Given the description of an element on the screen output the (x, y) to click on. 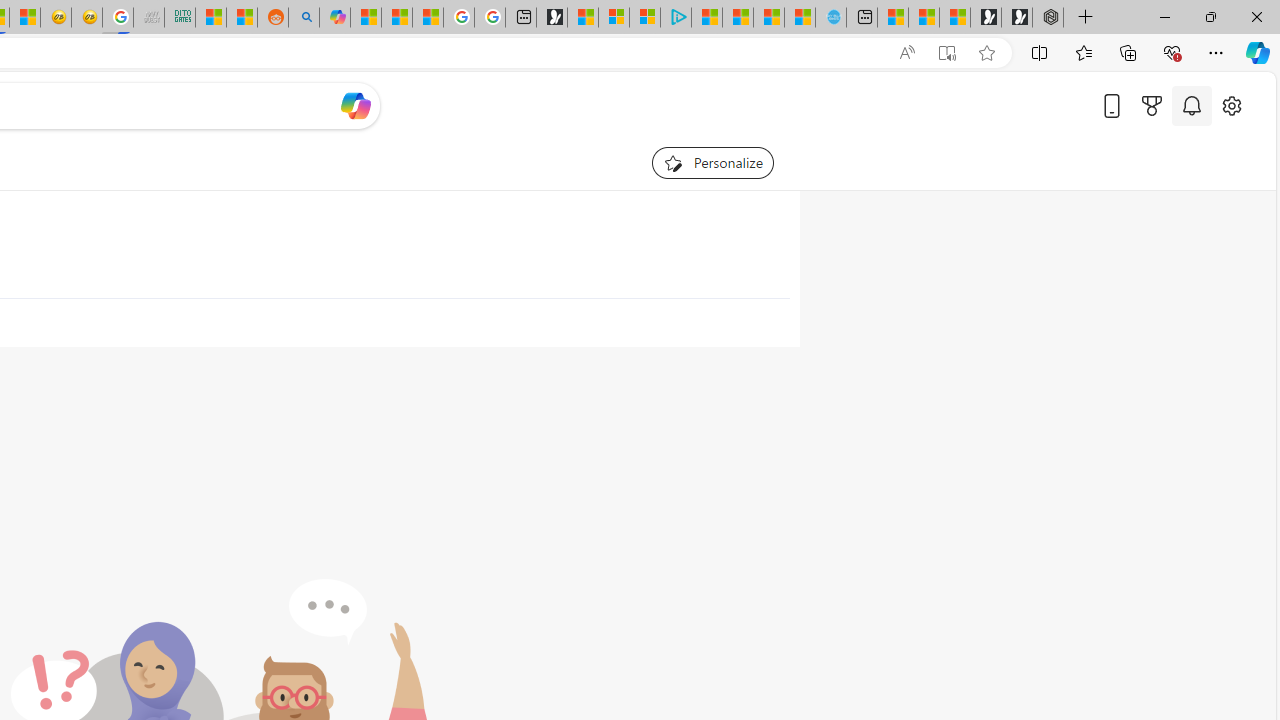
Close (1256, 16)
Microsoft Start (768, 17)
Enter Immersive Reader (F9) (946, 53)
Minimize (1164, 16)
Settings and more (Alt+F) (1215, 52)
Favorites (1083, 52)
MSNBC - MSN (210, 17)
Add this page to favorites (Ctrl+D) (986, 53)
Microsoft account | Privacy (644, 17)
